Given the description of an element on the screen output the (x, y) to click on. 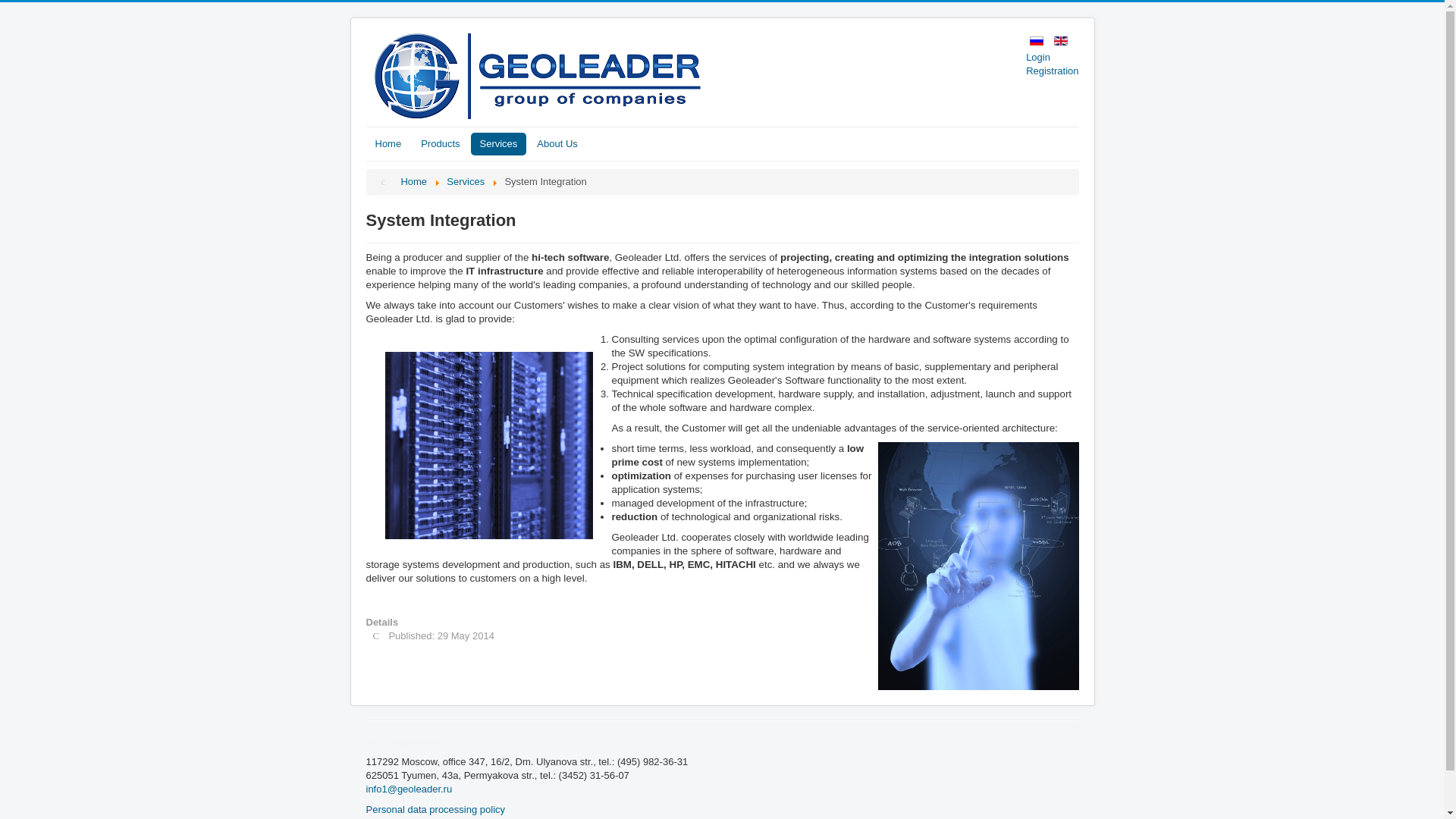
Home (387, 143)
Services (497, 143)
About Us (556, 143)
Products (440, 143)
Login (1052, 57)
Registration (1052, 70)
